Given the description of an element on the screen output the (x, y) to click on. 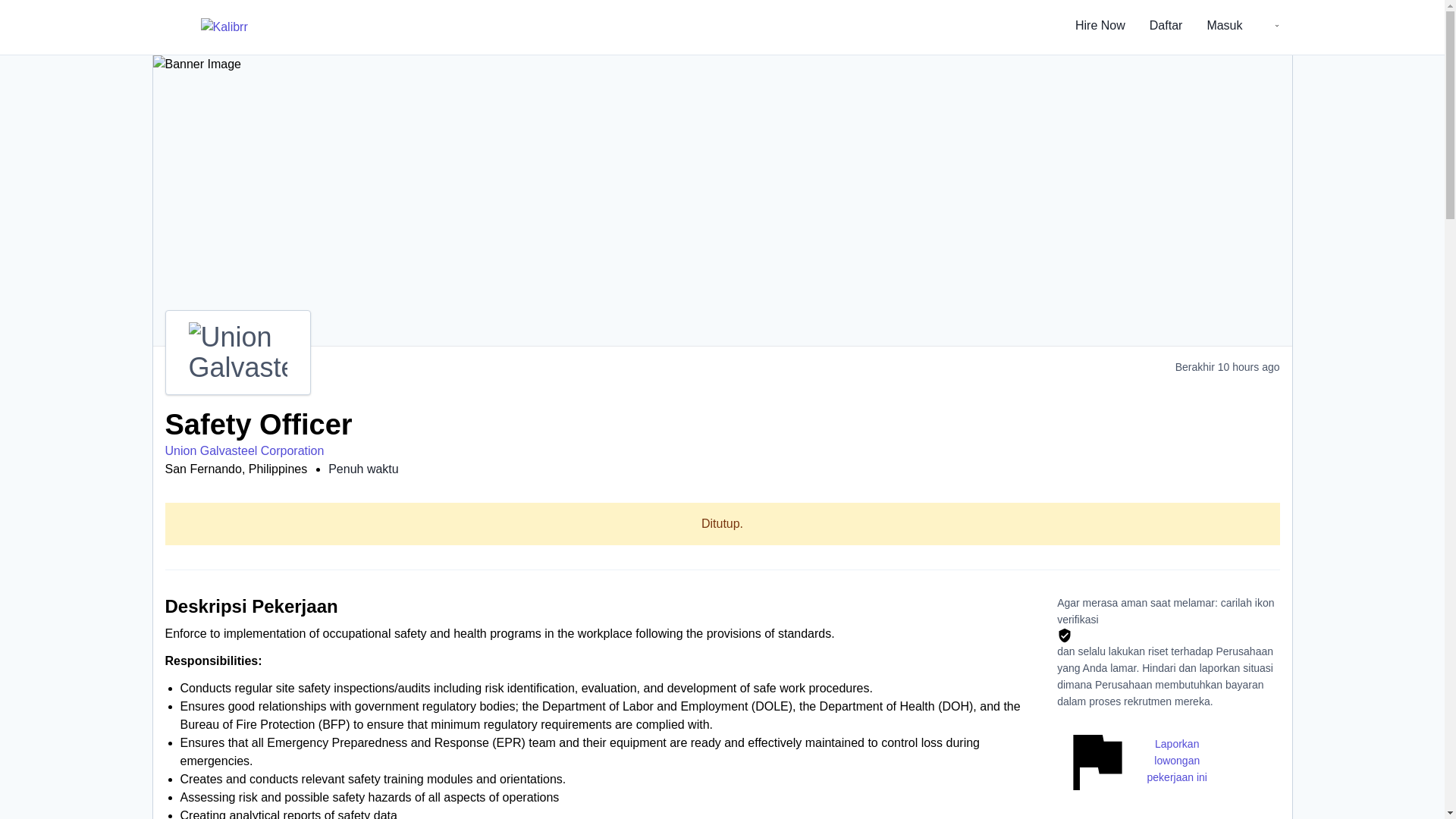
Union Galvasteel Corporation (244, 451)
Laporkan lowongan pekerjaan ini (1136, 760)
Hire Now (1099, 27)
Penuh waktu (363, 468)
Masuk (1223, 27)
Daftar (1166, 27)
